Given the description of an element on the screen output the (x, y) to click on. 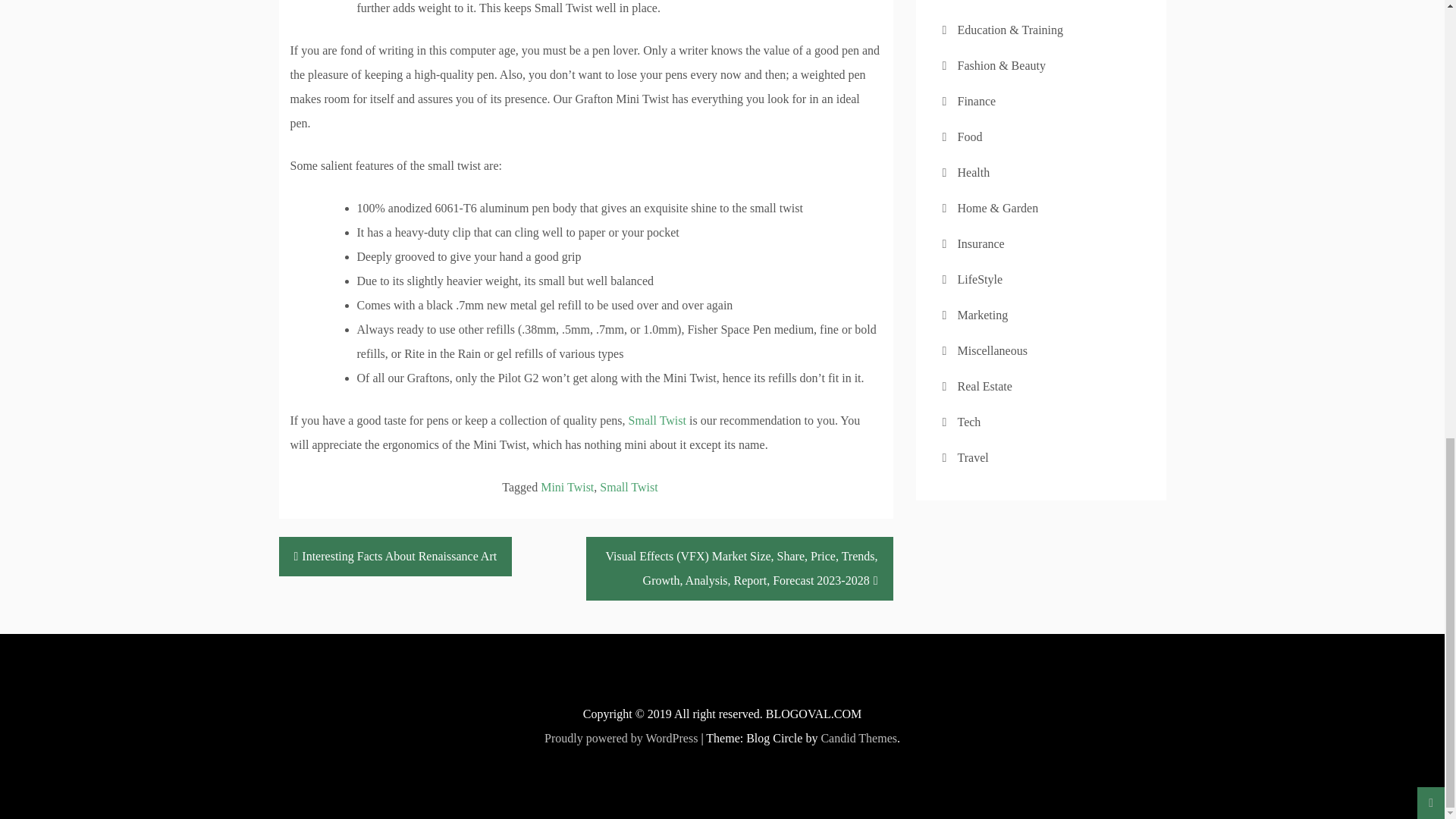
Contact Us (983, 0)
Mini Twist (567, 486)
Small Twist (656, 420)
Interesting Facts About Renaissance Art (395, 556)
Small Twist (628, 486)
